Given the description of an element on the screen output the (x, y) to click on. 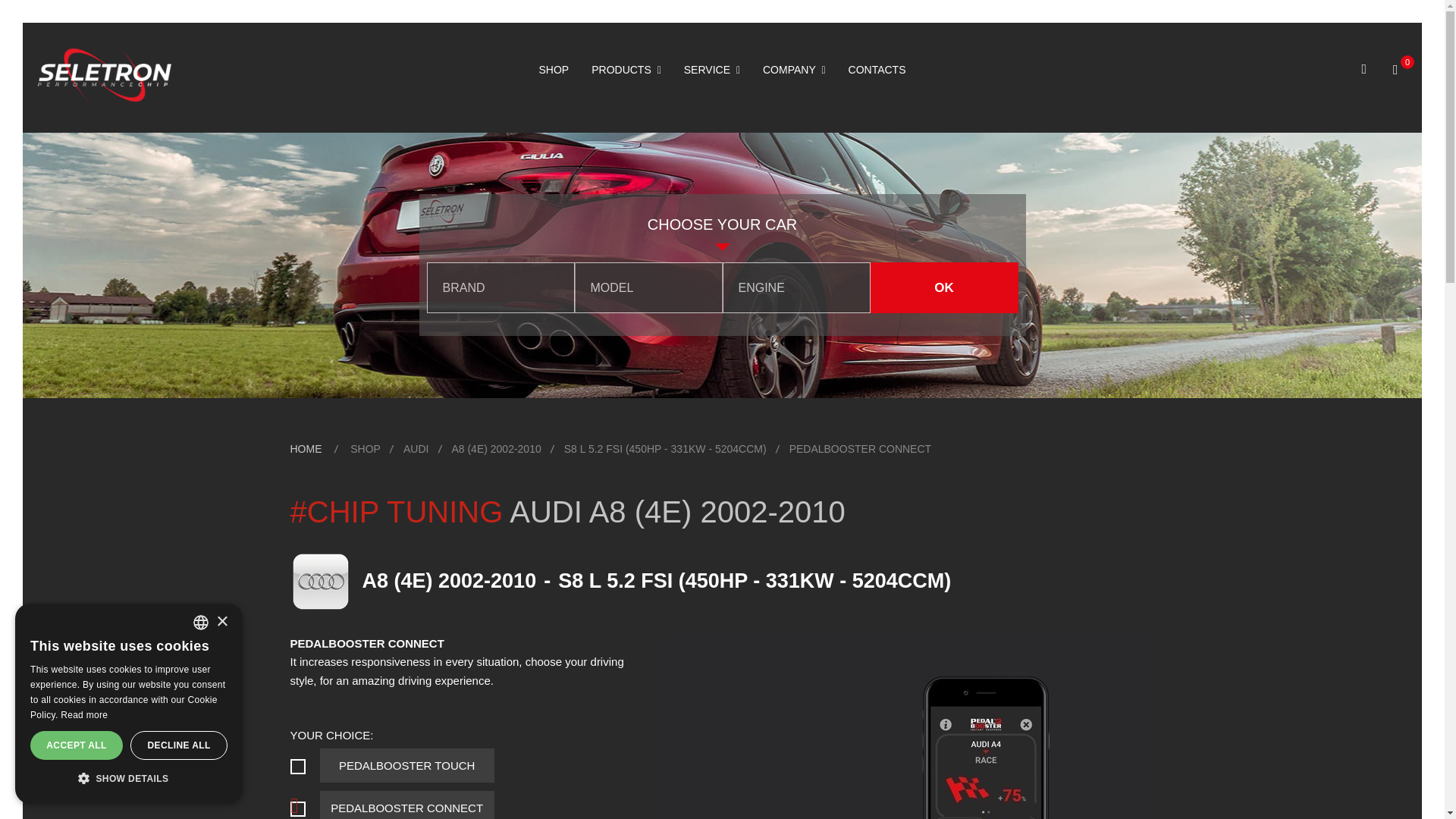
Shop (365, 448)
SHOP (553, 69)
Seletron Performance (104, 74)
CONTACTS (876, 69)
ok (943, 287)
Audi (415, 448)
SERVICE (711, 69)
Return to Home (305, 448)
PRODUCTS (626, 69)
COMPANY (793, 69)
